Given the description of an element on the screen output the (x, y) to click on. 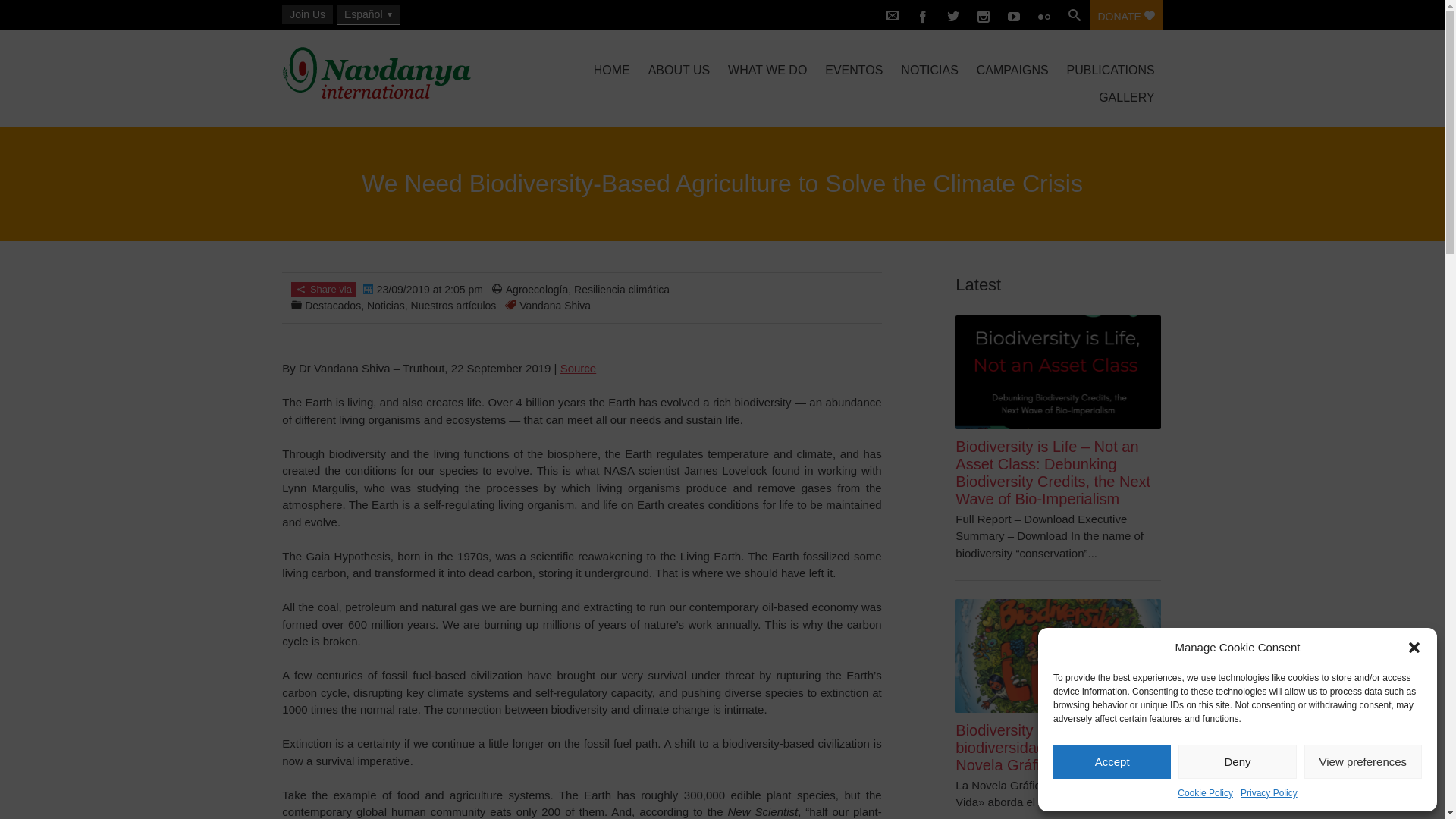
Instagram (983, 15)
Navdanya international -  (413, 72)
Accept (1111, 761)
Deny (1236, 761)
Facebook (922, 15)
Privacy Policy (1268, 793)
ABOUT US (678, 70)
View preferences (1363, 761)
Twitter (952, 15)
HOME (611, 70)
Join Us (307, 14)
Contact (892, 15)
Cookie Policy (1205, 793)
Search (21, 12)
DONATE (1125, 15)
